Given the description of an element on the screen output the (x, y) to click on. 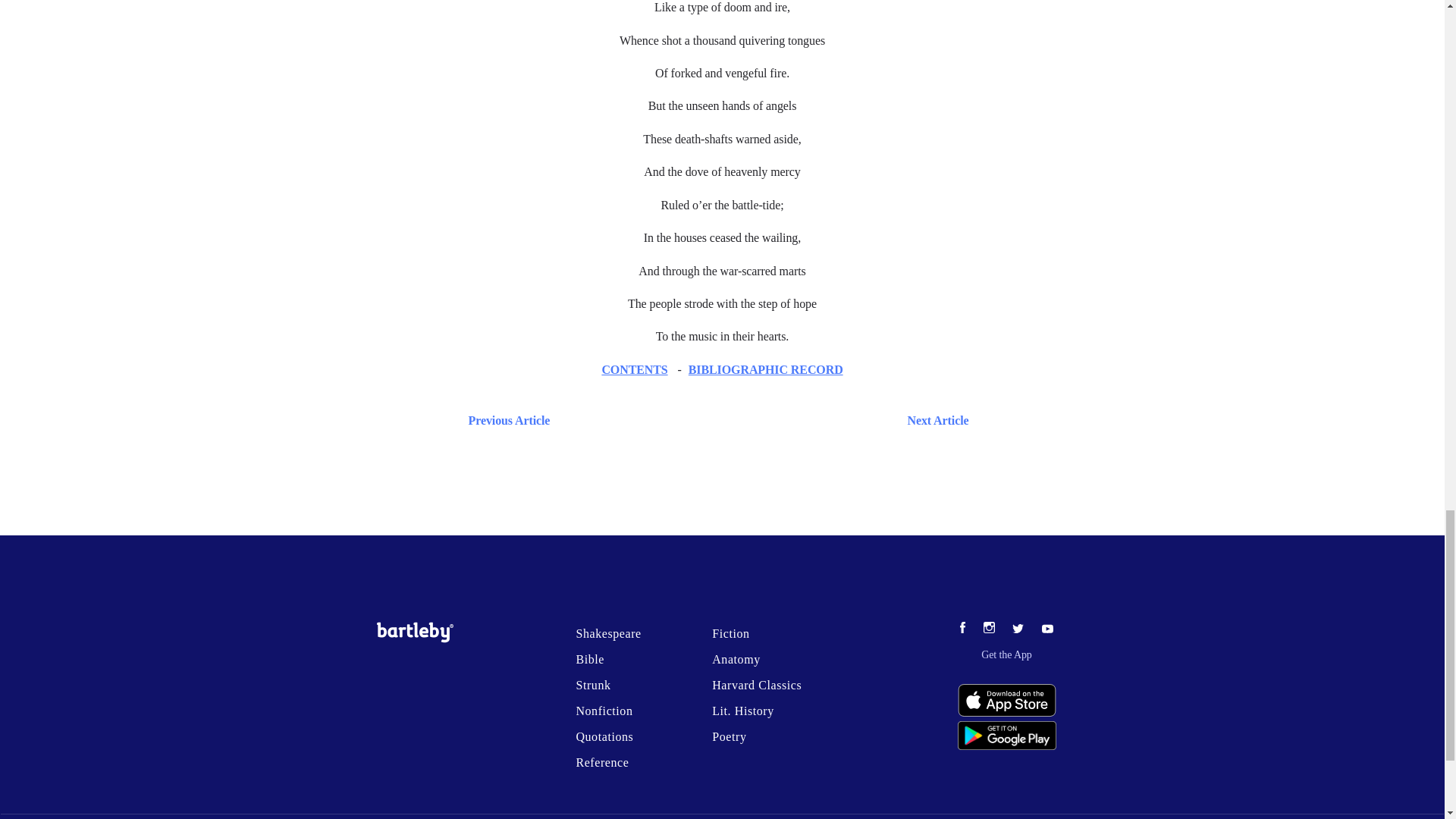
Bible (589, 658)
Shakespeare (607, 633)
Strunk (592, 684)
Harvard Classics (756, 684)
Poetry (728, 736)
Next Article (766, 420)
Nonfiction (603, 710)
Lit. History (742, 710)
Previous Article (505, 420)
Anatomy (735, 658)
Fiction (730, 633)
BIBLIOGRAPHIC RECORD (765, 369)
Reference (601, 762)
CONTENTS (633, 369)
Quotations (604, 736)
